Given the description of an element on the screen output the (x, y) to click on. 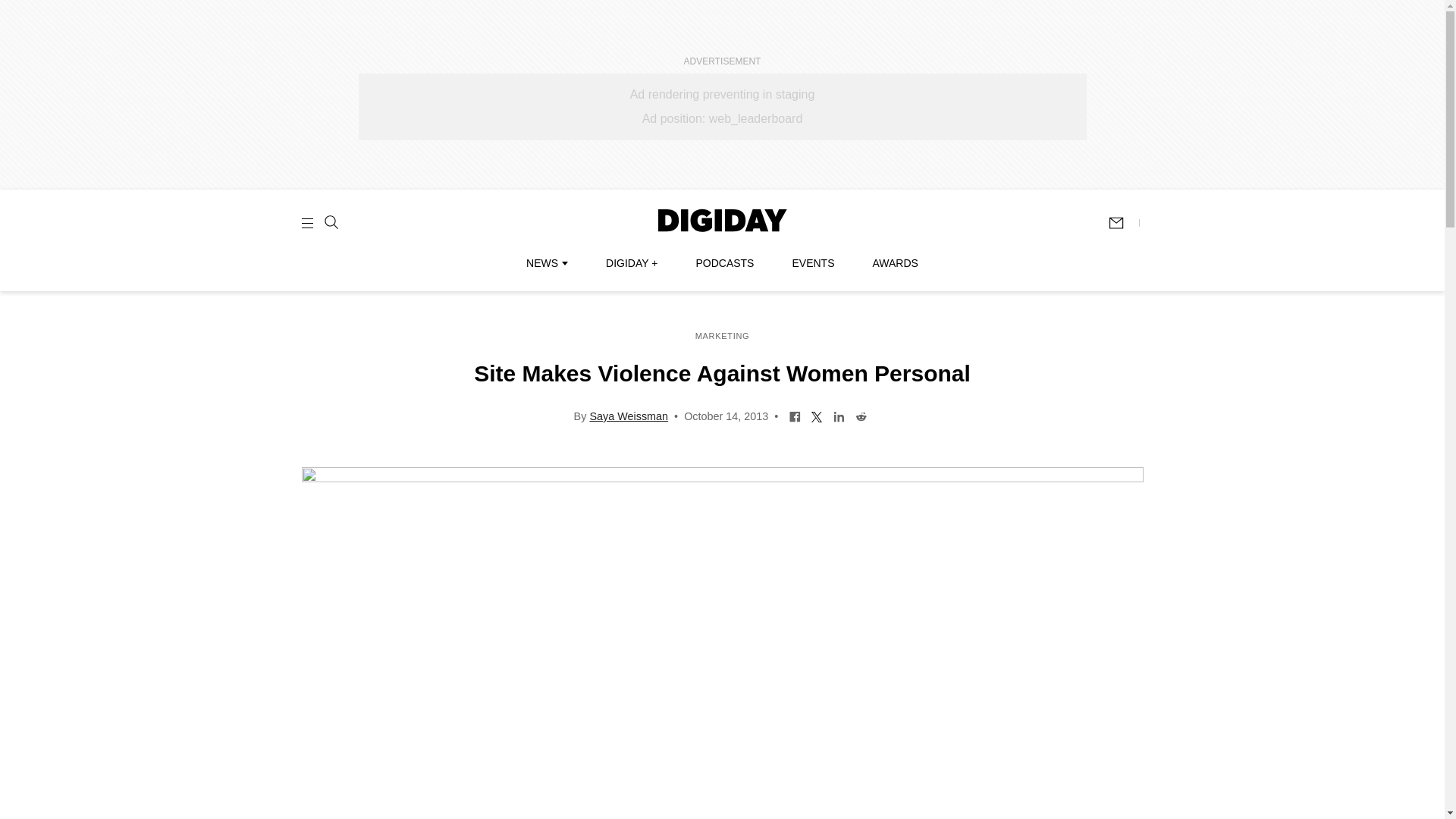
Share on LinkedIn (838, 415)
Share on Facebook (795, 415)
Share on Twitter (817, 415)
NEWS (546, 262)
AWARDS (894, 262)
PODCASTS (725, 262)
Share on Reddit (860, 415)
Subscribe (1123, 223)
EVENTS (813, 262)
